Given the description of an element on the screen output the (x, y) to click on. 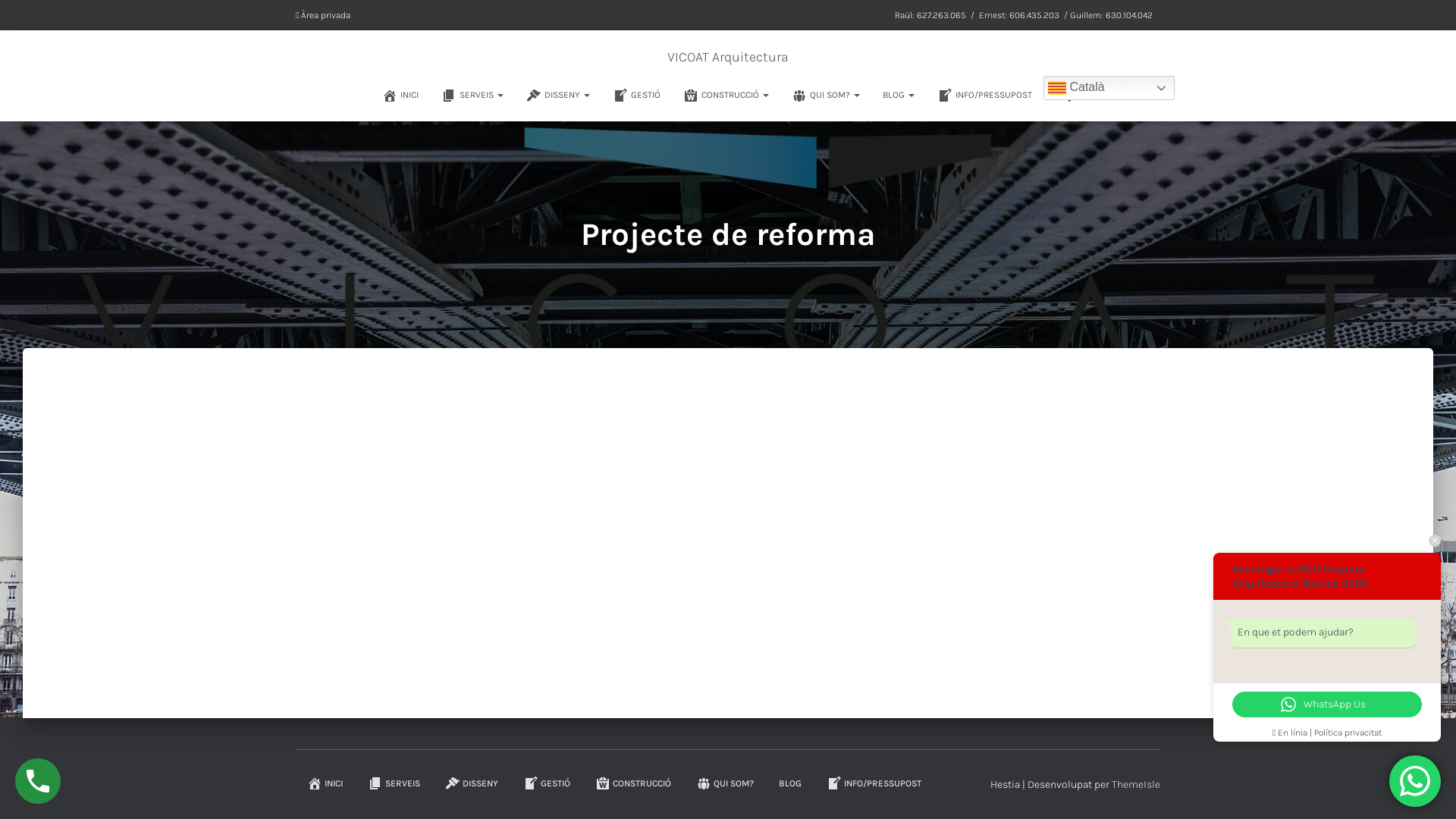
VICOAT Arquitectura Element type: text (727, 56)
SERVEIS Element type: text (471, 94)
INICI Element type: text (324, 783)
BLOG Element type: text (789, 783)
QUI SOM? Element type: text (825, 94)
DISSENY Element type: text (471, 783)
QUI SOM? Element type: text (724, 783)
ThemeIsle Element type: text (1135, 784)
DISSENY Element type: text (557, 94)
SERVEIS Element type: text (393, 783)
INICI Element type: text (399, 94)
INFO/PRESSUPOST Element type: text (984, 94)
Cerca Element type: text (3, 16)
BLOG Element type: text (898, 94)
INFO/PRESSUPOST Element type: text (873, 783)
